Given the description of an element on the screen output the (x, y) to click on. 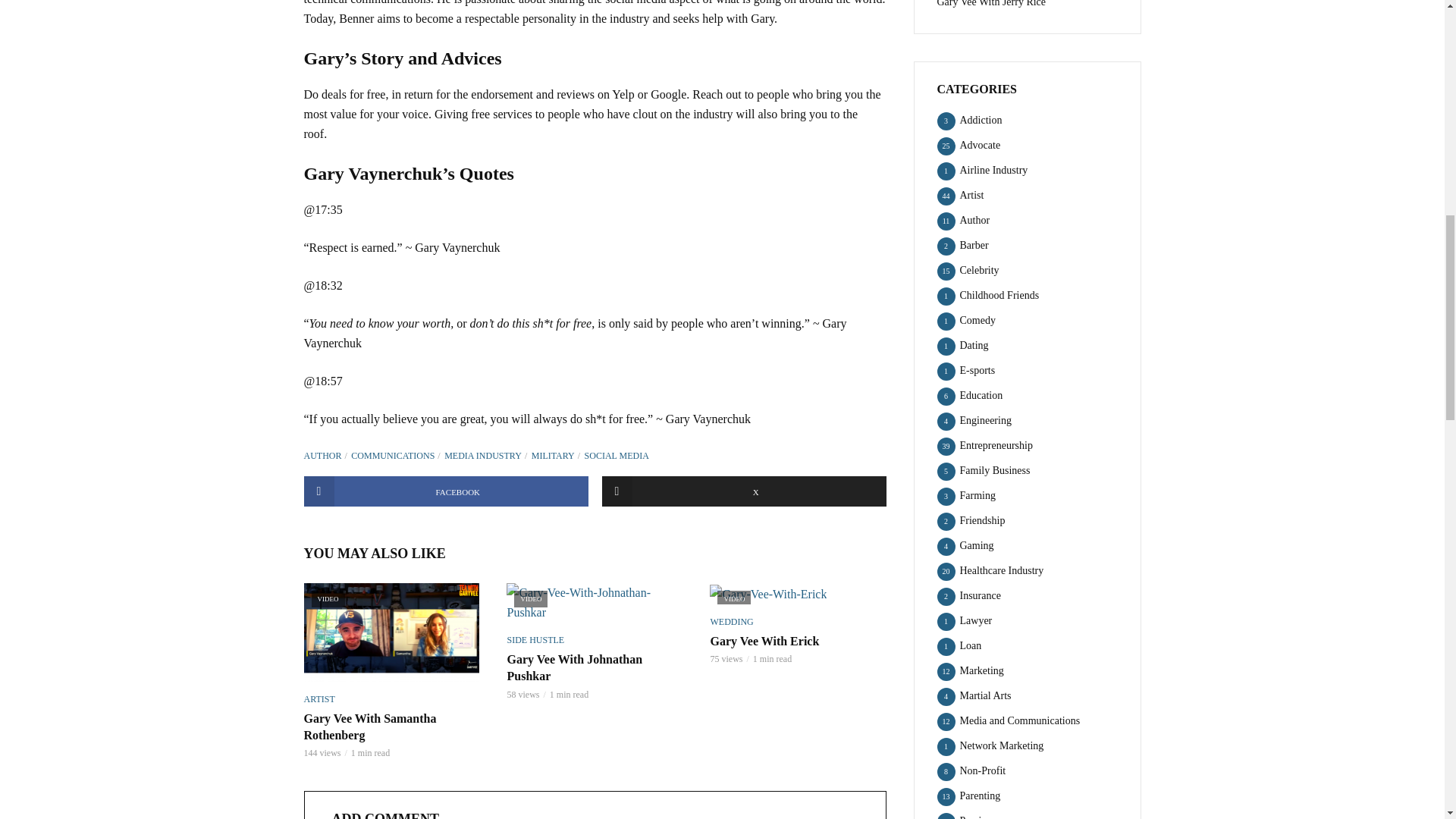
Gary Vee With Erick (797, 593)
COMMUNICATIONS (395, 455)
MEDIA INDUSTRY (486, 455)
Gary Vee With Samantha Rothenberg (390, 632)
AUTHOR (324, 455)
Gary Vee With Johnathan Pushkar (594, 602)
